Given the description of an element on the screen output the (x, y) to click on. 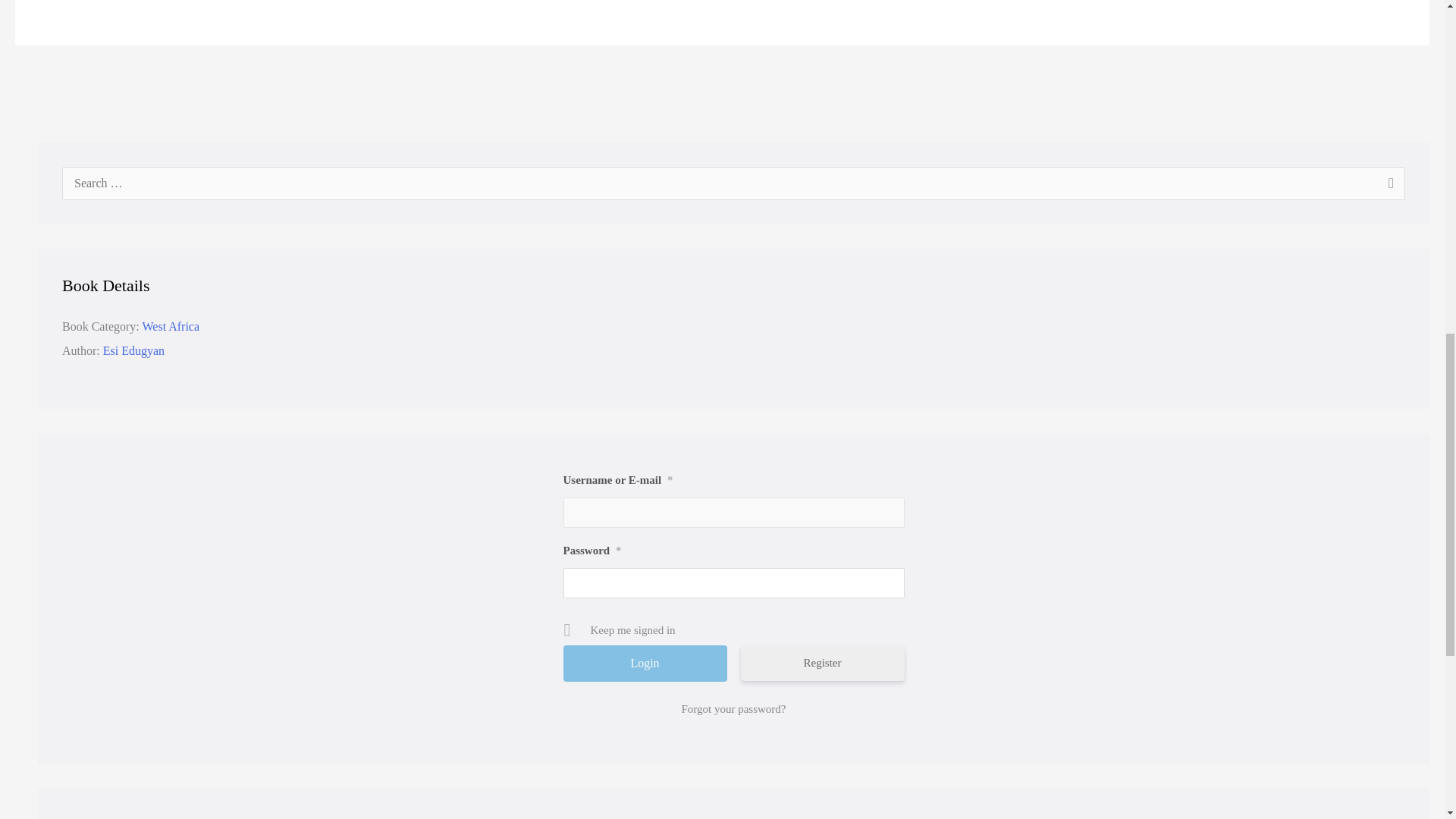
Login (644, 663)
Esi Edugyan (133, 350)
Register (821, 662)
West Africa (170, 326)
Forgot your password? (733, 709)
Login (644, 663)
